Given the description of an element on the screen output the (x, y) to click on. 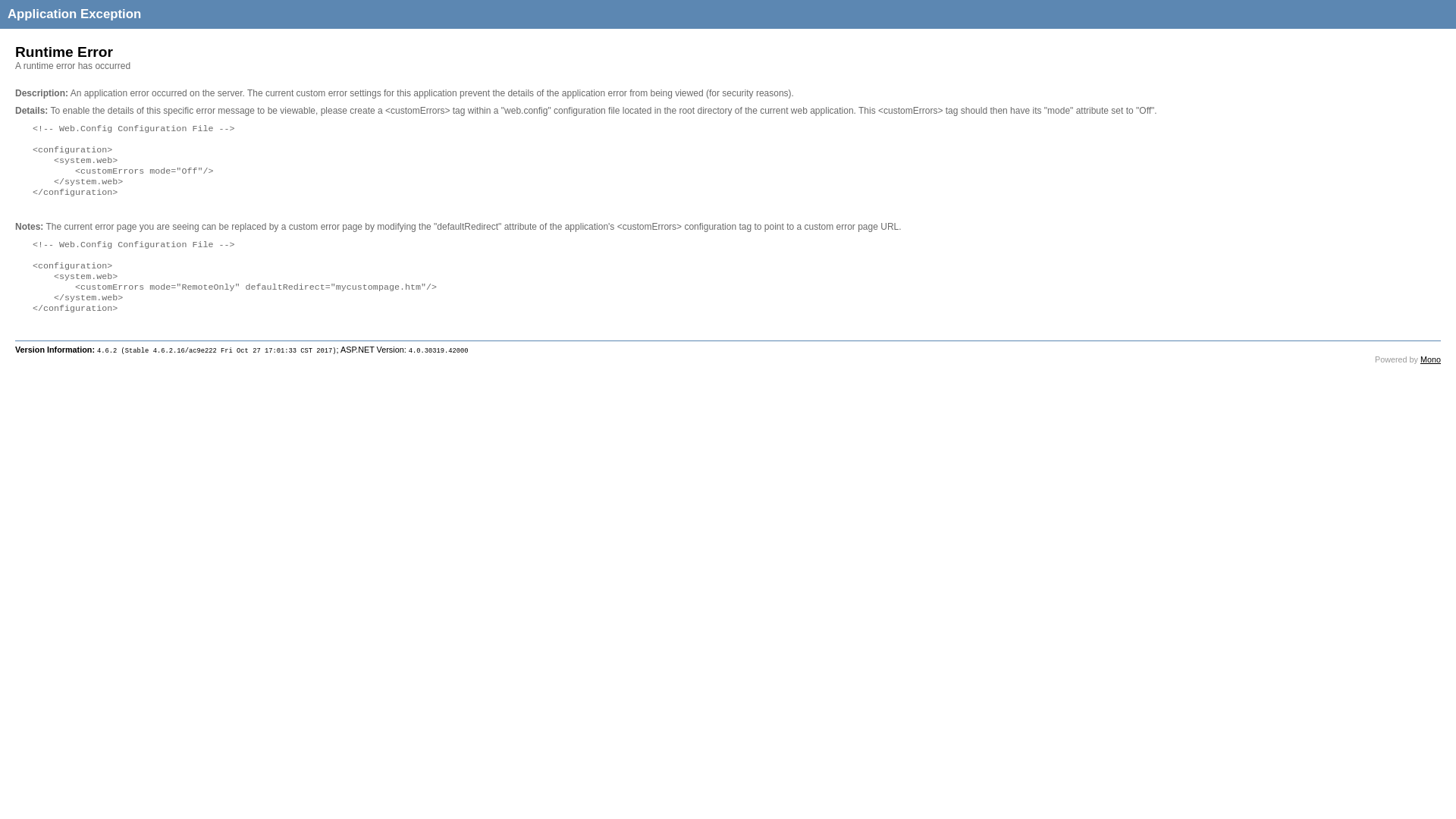
Mono Element type: text (1430, 359)
